Given the description of an element on the screen output the (x, y) to click on. 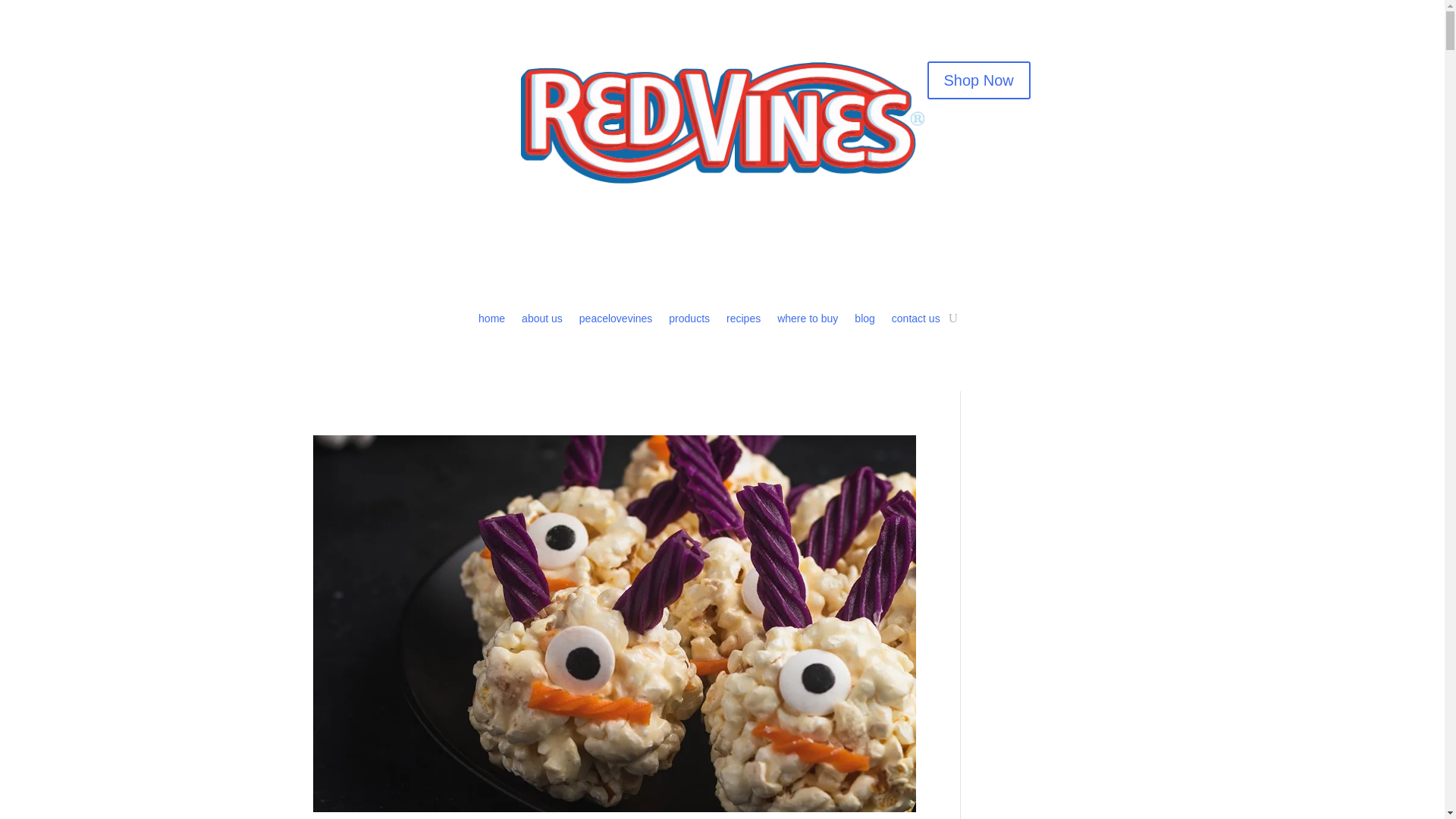
Shop Now (977, 80)
products (689, 321)
contact us (915, 321)
peacelovevines (615, 321)
blog (864, 321)
about us (541, 321)
home (492, 321)
Follow on Facebook (377, 73)
recipes (743, 321)
Follow on Instagram (453, 73)
